Given the description of an element on the screen output the (x, y) to click on. 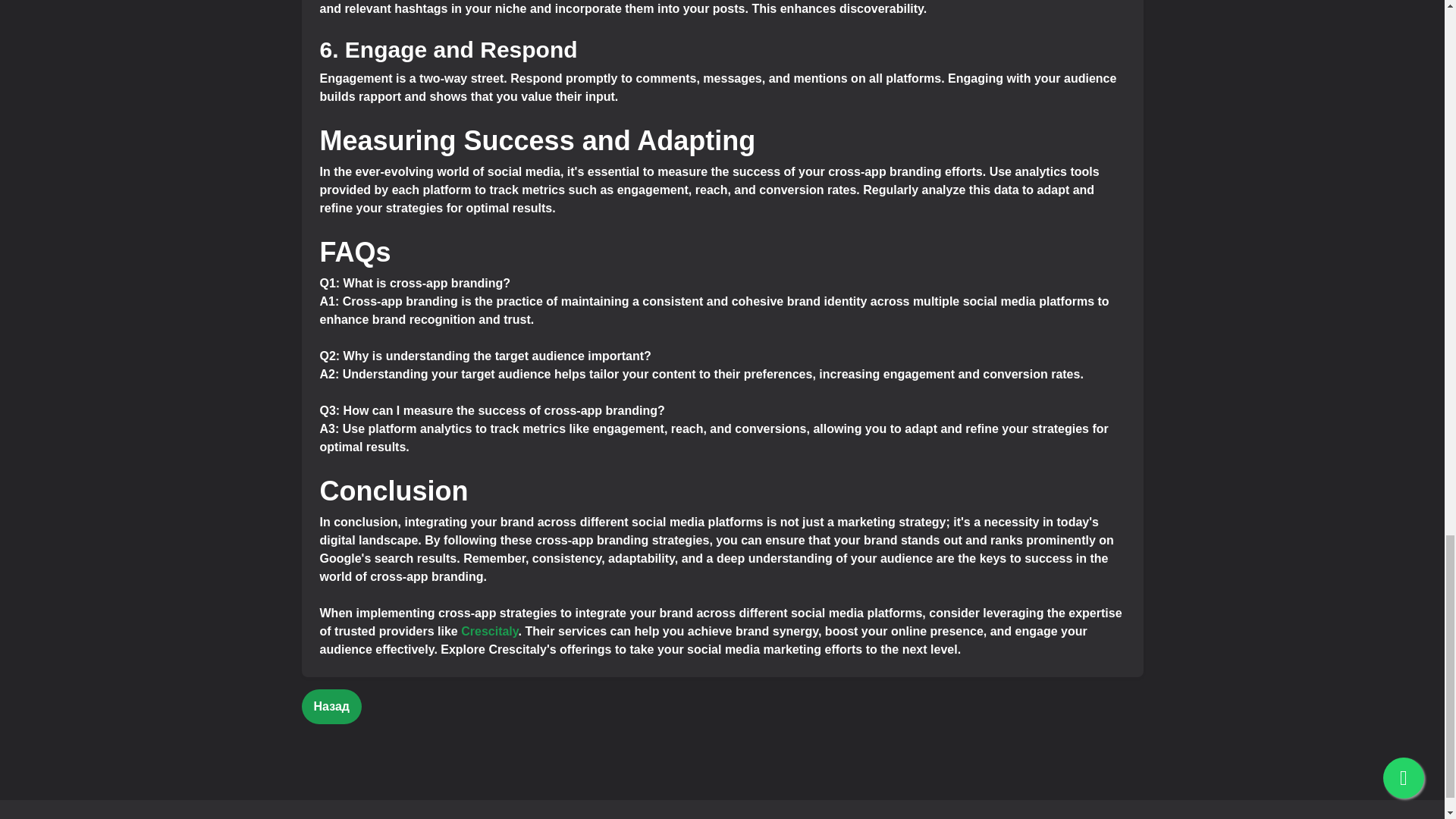
Crescitaly (489, 631)
